Given the description of an element on the screen output the (x, y) to click on. 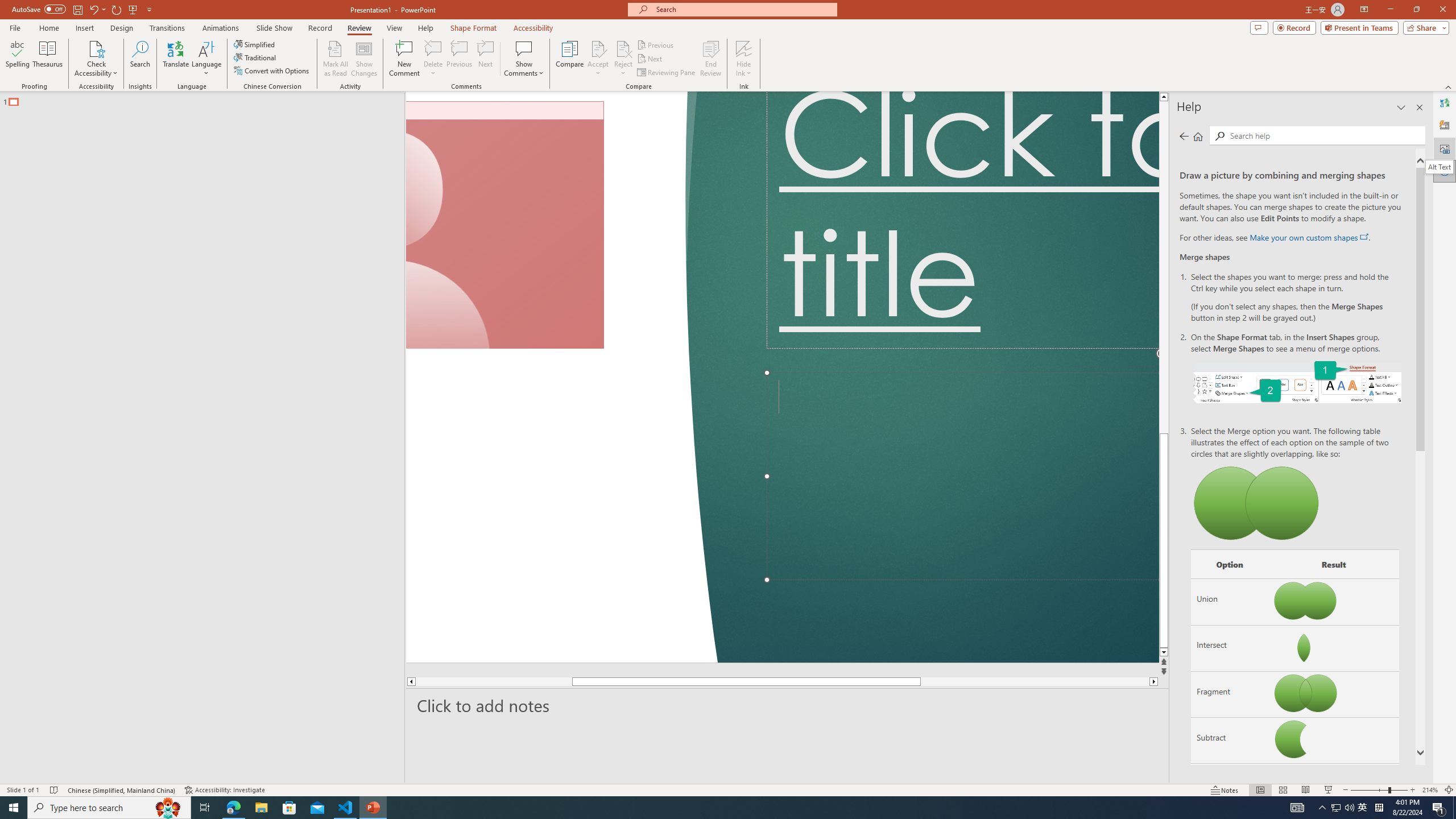
Subtitle TextBox (962, 476)
On the Shape Format tab, select Merge Shapes. (1296, 381)
Delete (432, 48)
Show Comments (524, 58)
Quick Access Toolbar (82, 9)
Alt Text (1444, 147)
Notes  (1225, 790)
Hide Ink (743, 58)
Share (1423, 27)
Restore Down (1416, 9)
Search (140, 58)
End Review (710, 58)
